Given the description of an element on the screen output the (x, y) to click on. 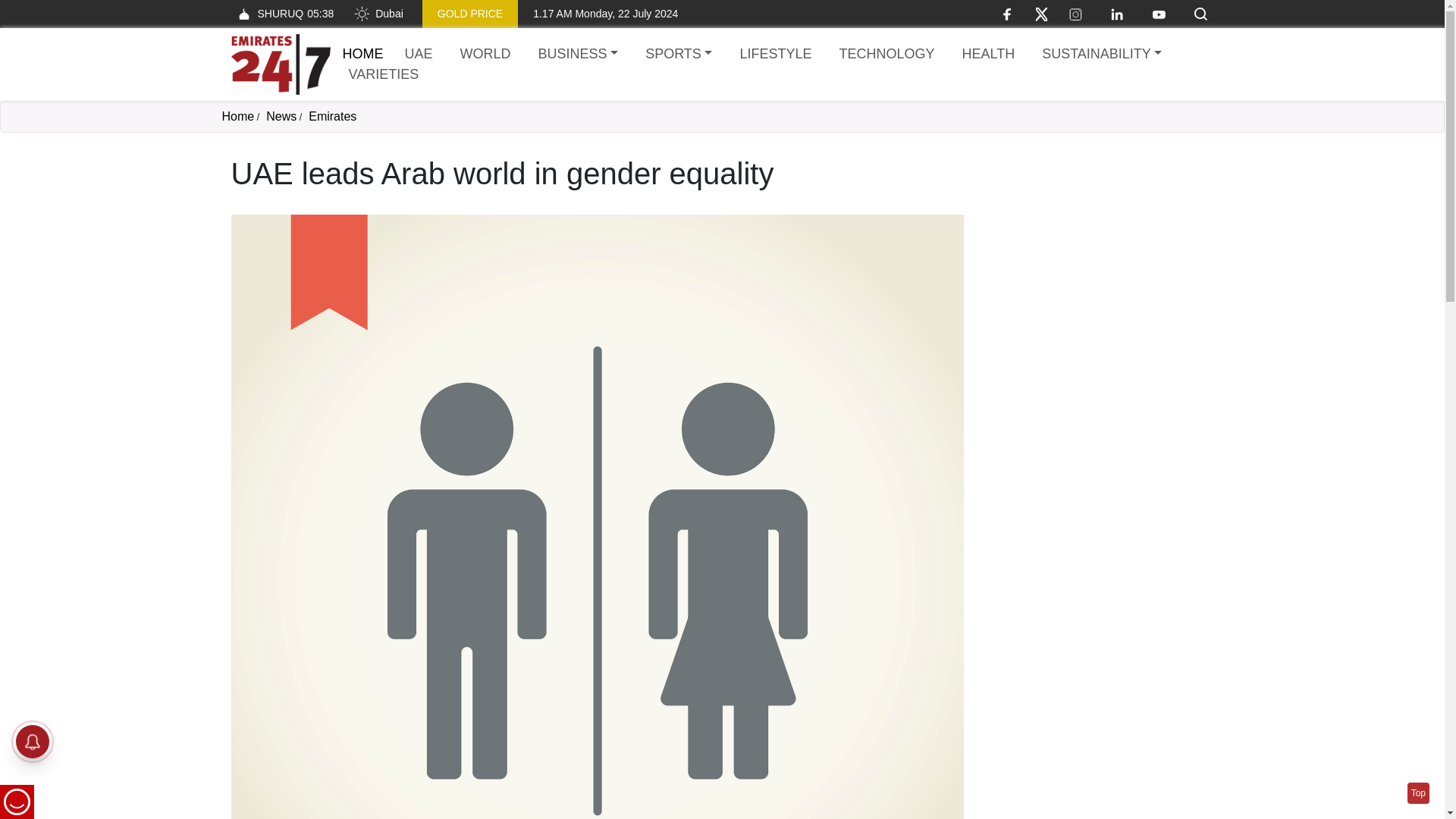
Home (280, 64)
Dubai (378, 13)
3rd party ad content (1097, 249)
News (281, 115)
SUSTAINABILITY (1101, 54)
HOME (281, 13)
UAE (363, 53)
SPORTS (418, 54)
WORLD (678, 54)
Go to top (485, 54)
GOLD PRICE (1418, 792)
Home (470, 13)
BUSINESS (237, 115)
Home (578, 54)
